Given the description of an element on the screen output the (x, y) to click on. 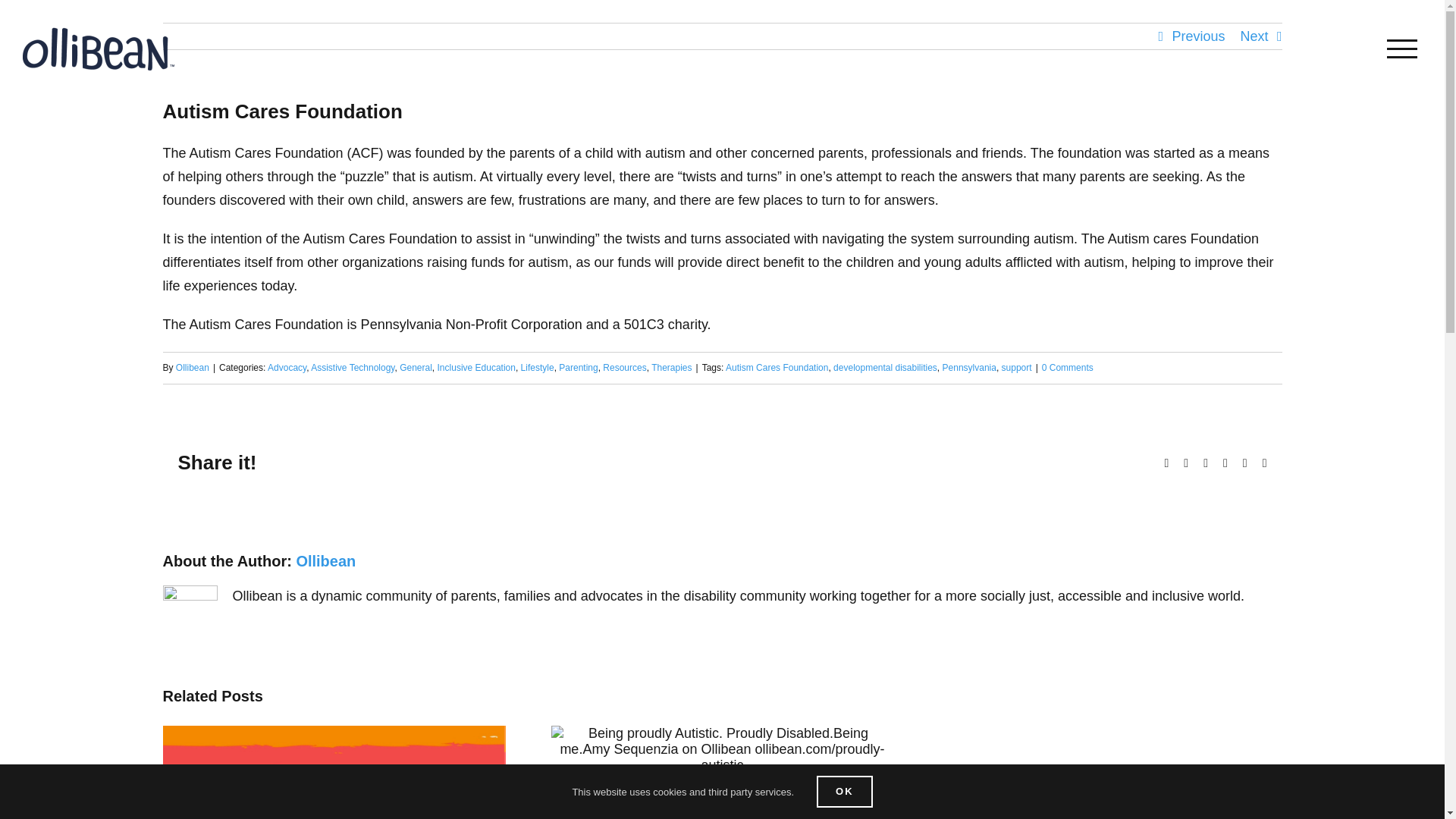
Tumblr (1225, 463)
Pennsylvania (968, 367)
support (1016, 367)
X (1185, 463)
Posts by Ollibean (325, 560)
Previous (1198, 36)
Parenting (577, 367)
Lifestyle (537, 367)
developmental disabilities (884, 367)
Ollibean (192, 367)
Assistive Technology (352, 367)
Advocacy (286, 367)
Next (1254, 36)
General (415, 367)
WhatsApp (1206, 463)
